Given the description of an element on the screen output the (x, y) to click on. 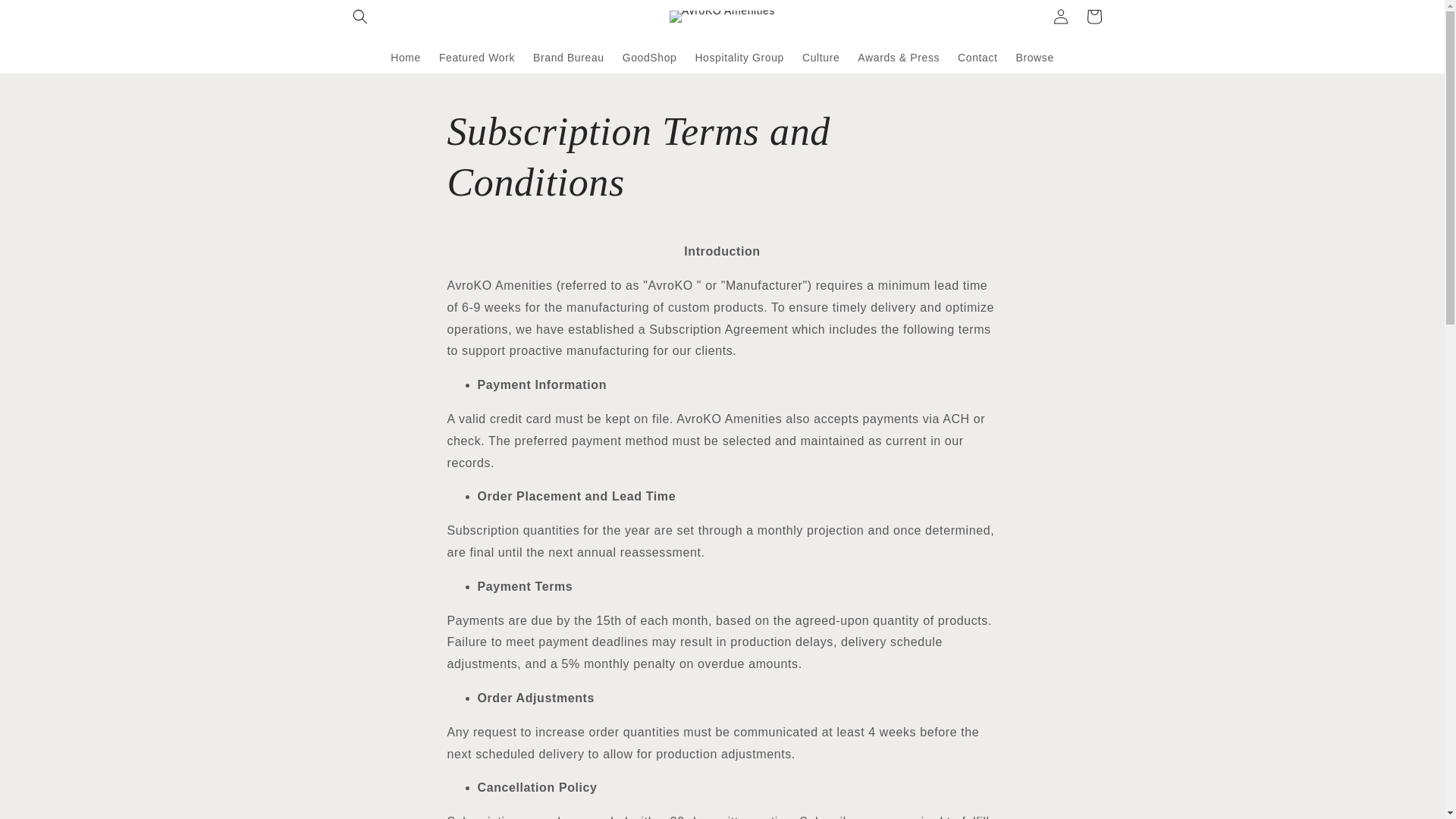
GoodShop (648, 56)
Home (405, 56)
Skip to content (45, 17)
Brand Bureau (568, 56)
Log in (1060, 16)
Hospitality Group (739, 56)
Featured Work (476, 56)
Culture (820, 56)
Browse (1034, 56)
Contact (977, 56)
Cart (1093, 16)
